Given the description of an element on the screen output the (x, y) to click on. 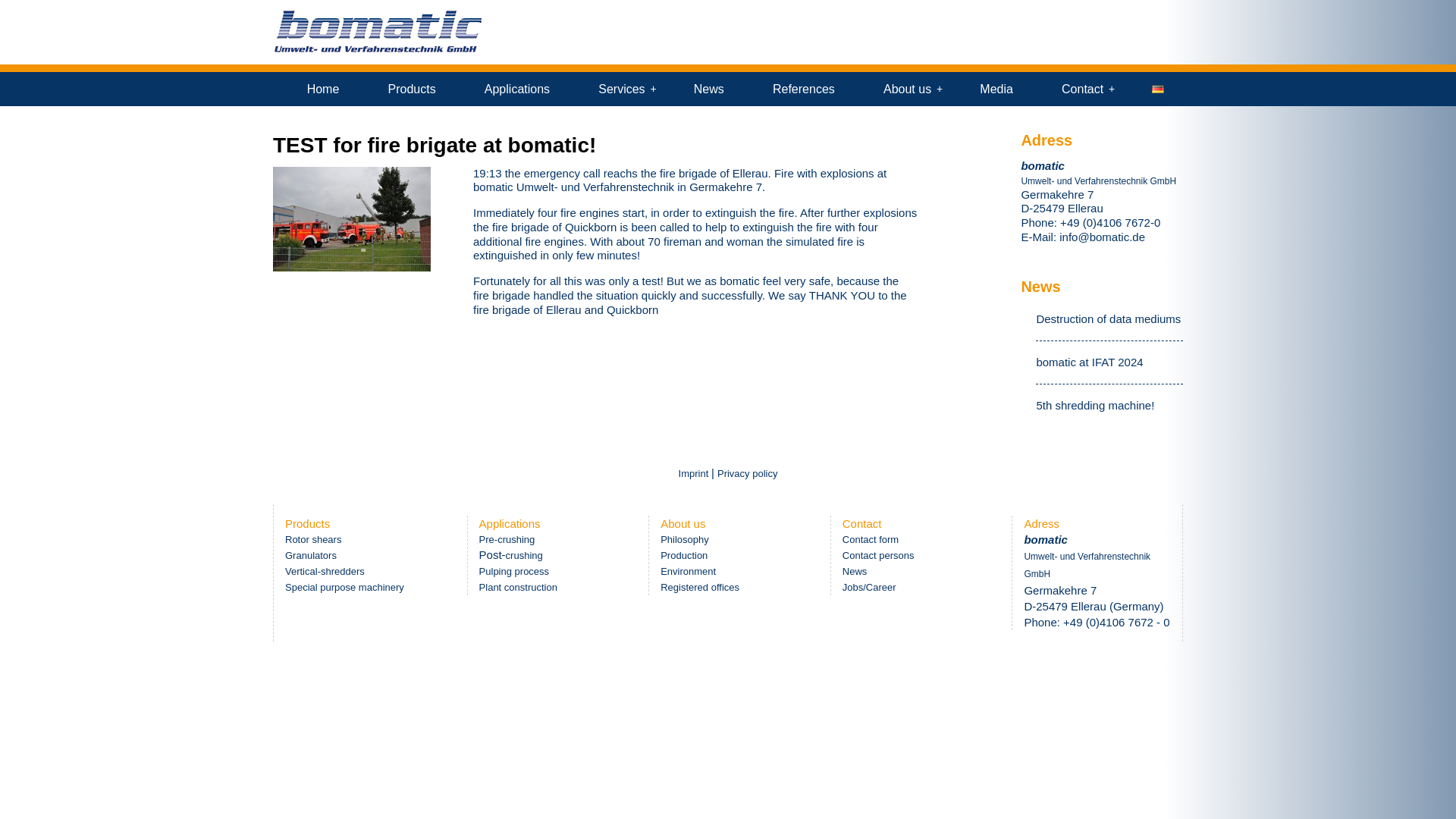
Imprint (694, 472)
Rotor shears (312, 539)
Products (411, 88)
Special purpose machinery (344, 586)
Zur Startseite (378, 51)
Granulators (310, 554)
Privacy policy (747, 472)
About us (906, 88)
News (708, 88)
Media (995, 88)
